Given the description of an element on the screen output the (x, y) to click on. 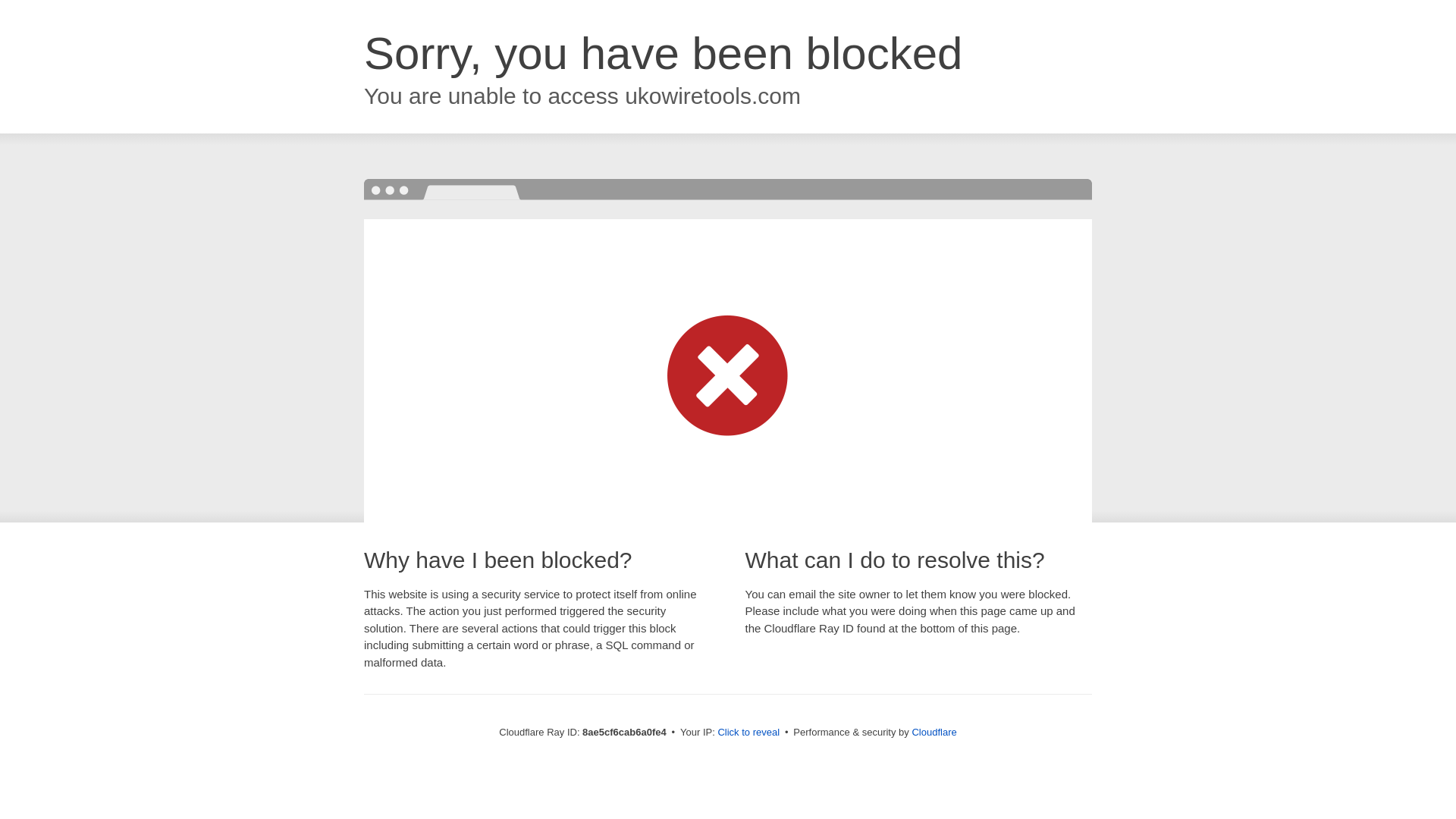
Cloudflare (933, 731)
Click to reveal (747, 732)
